Given the description of an element on the screen output the (x, y) to click on. 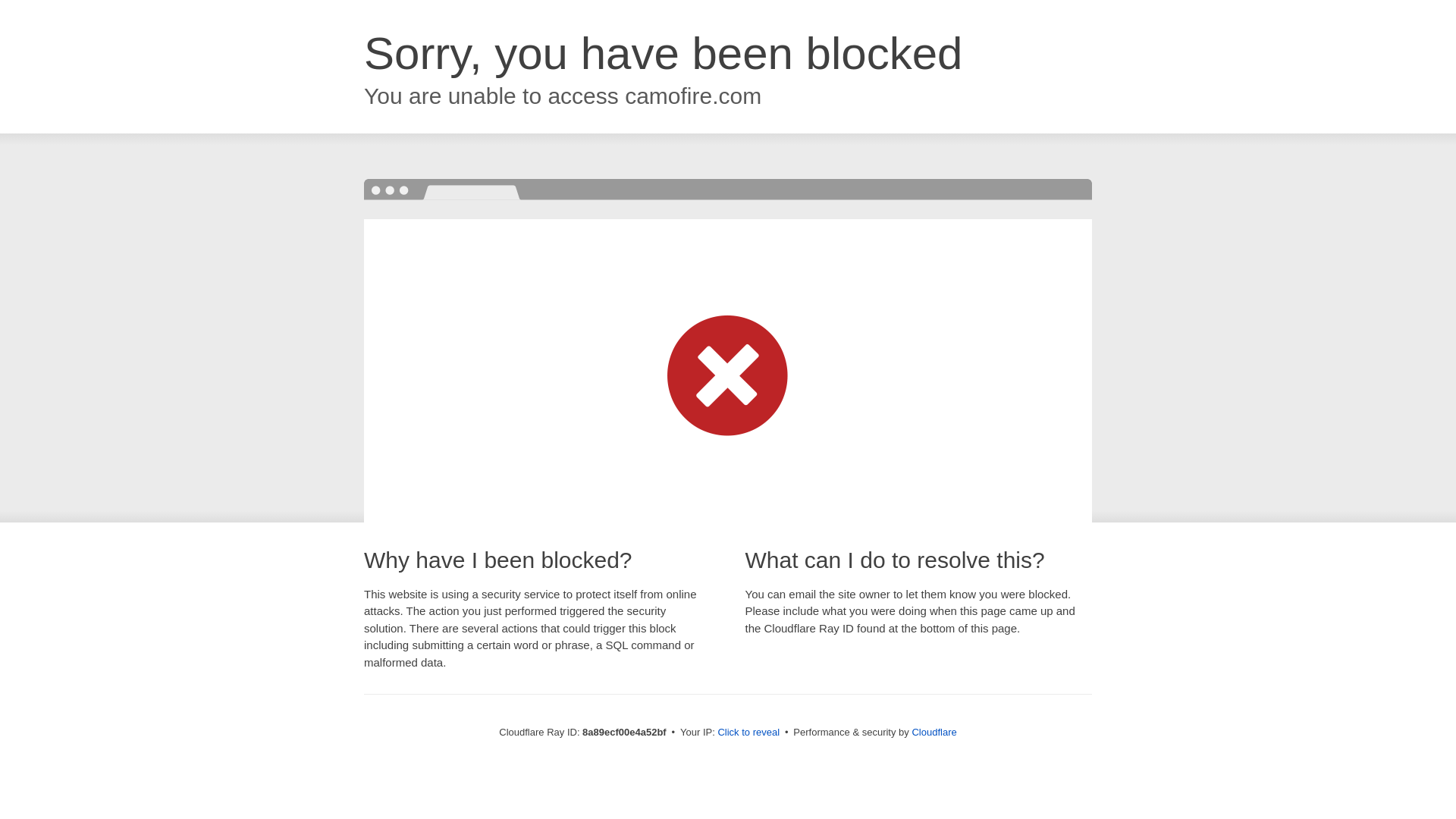
Click to reveal (747, 732)
Cloudflare (933, 731)
